Given the description of an element on the screen output the (x, y) to click on. 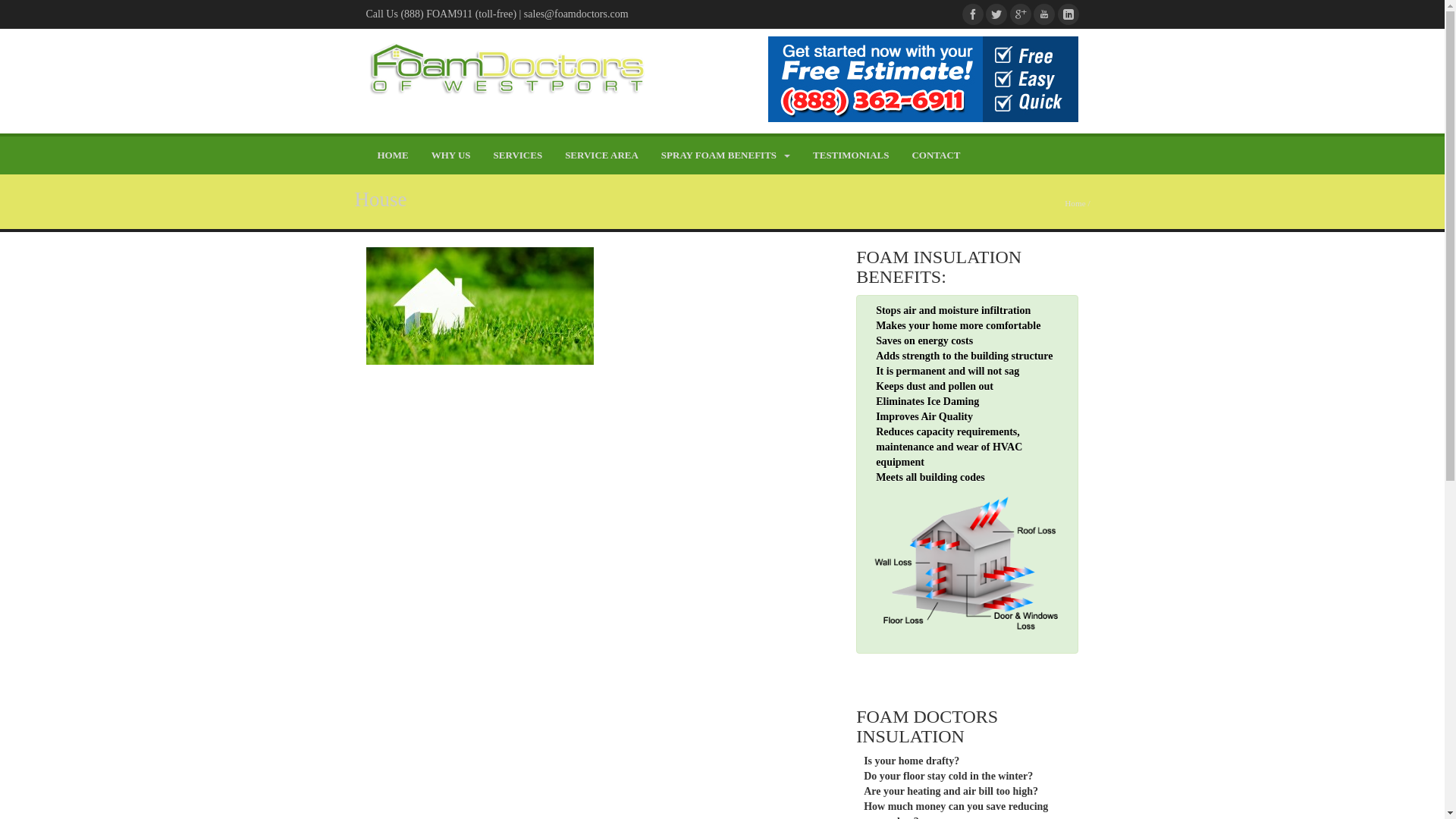
SPRAY FOAM BENEFITS (725, 155)
HOME (392, 155)
SERVICE AREA (601, 155)
Home (1074, 203)
Foam Doctors of Westport - Foam Gnomes  (507, 69)
House (478, 304)
CONTACT (935, 155)
House (381, 199)
WHY US (450, 155)
SERVICES (517, 155)
TESTIMONIALS (850, 155)
